Given the description of an element on the screen output the (x, y) to click on. 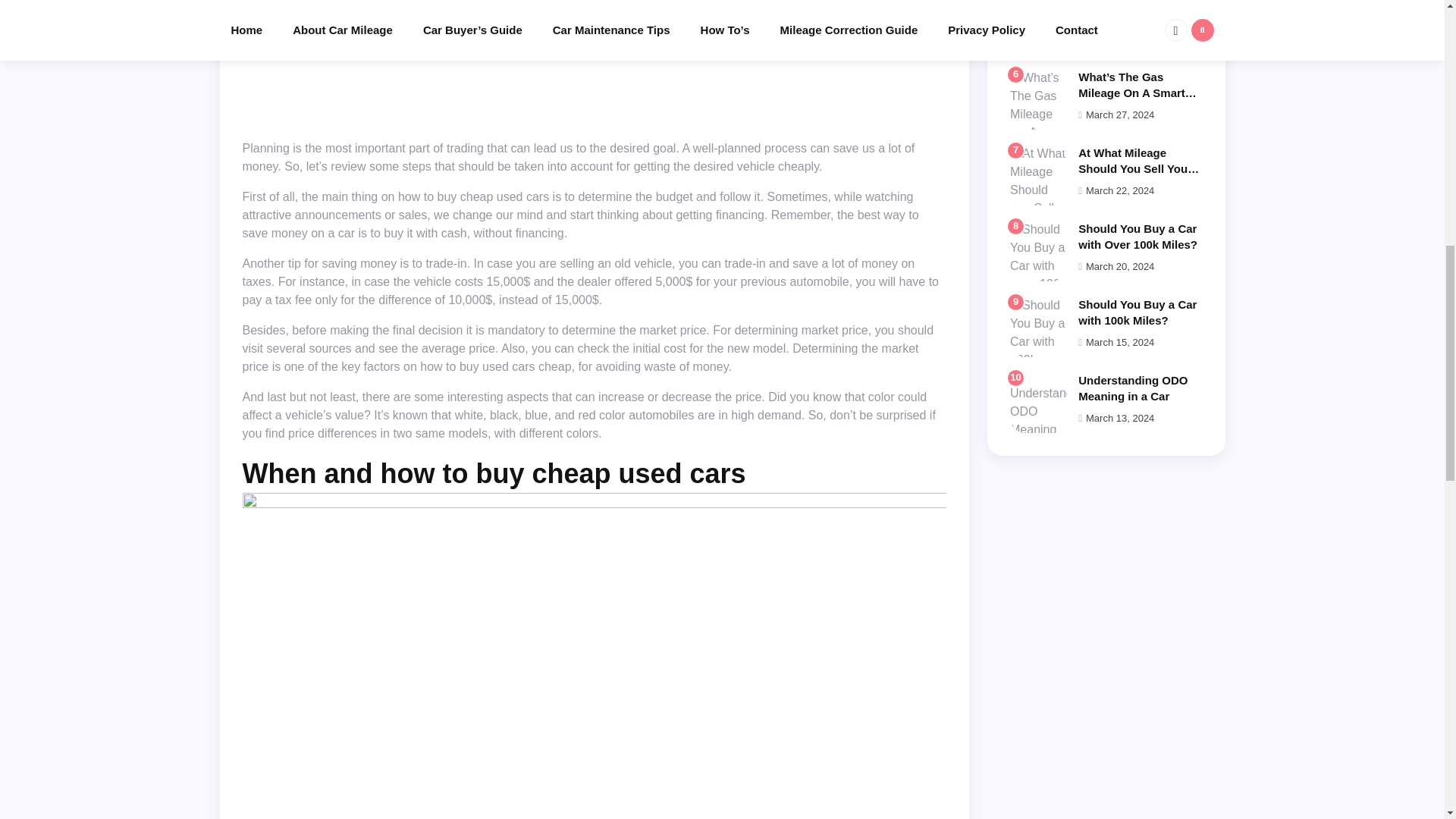
Should You Buy a Car with 100k Miles? (1137, 312)
At What Mileage Should You Sell Your Car? (1135, 168)
Whats High Mileage in Vehicles? (1138, 11)
Understanding ODO Meaning in a Car (1133, 387)
Should You Buy a Car with Over 100k Miles? (1137, 235)
